Given the description of an element on the screen output the (x, y) to click on. 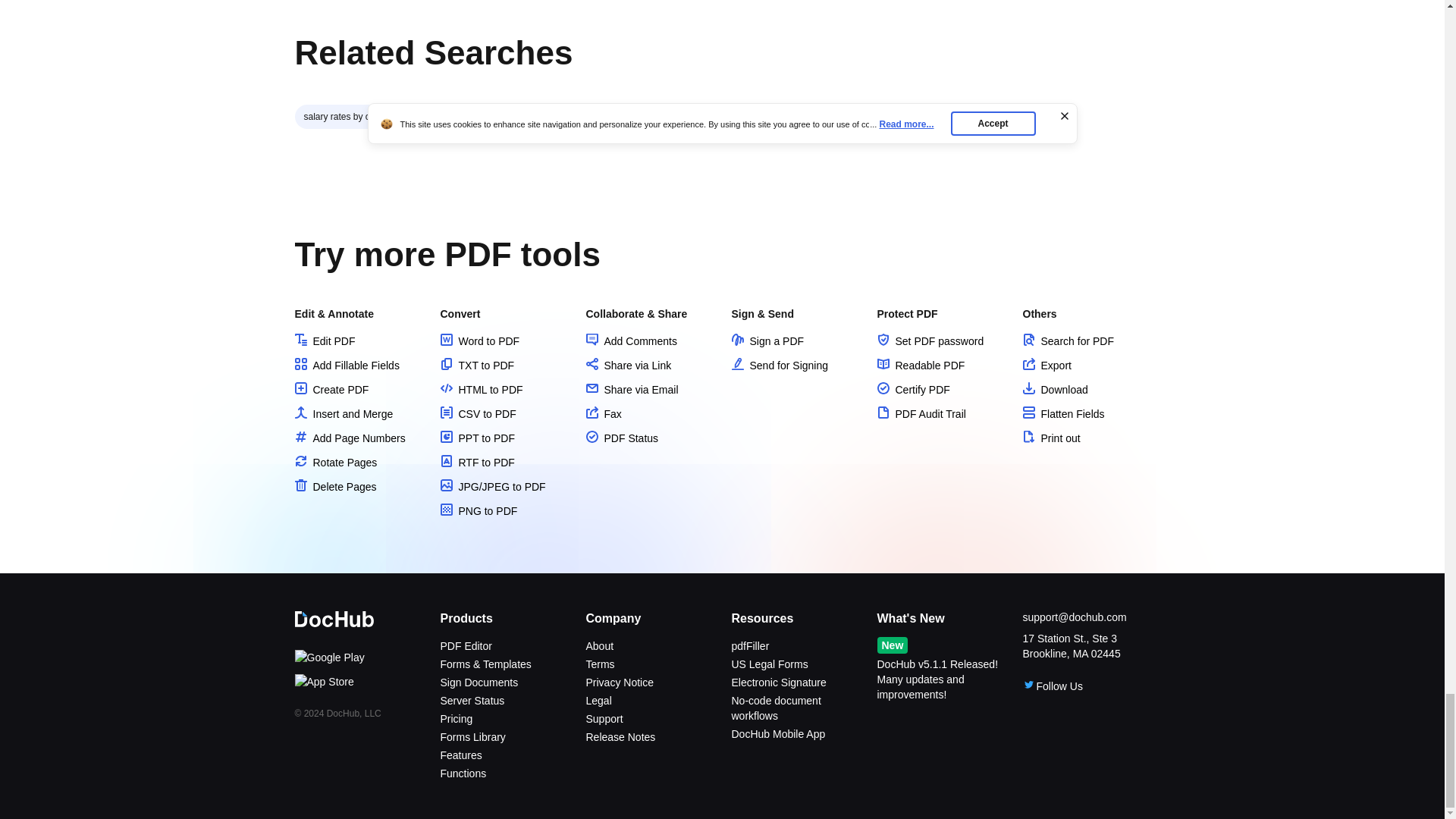
Delete Pages (334, 486)
PNG to PDF (477, 510)
Fax (603, 413)
CSV to PDF (477, 413)
Edit PDF (324, 340)
Share via Link (628, 365)
Add Comments (631, 340)
Insert and Merge (343, 413)
Word to PDF (479, 340)
PPT to PDF (476, 438)
Rotate Pages (335, 462)
Create PDF (331, 389)
Add Page Numbers (349, 438)
Share via Email (631, 389)
PDF Status (621, 438)
